Given the description of an element on the screen output the (x, y) to click on. 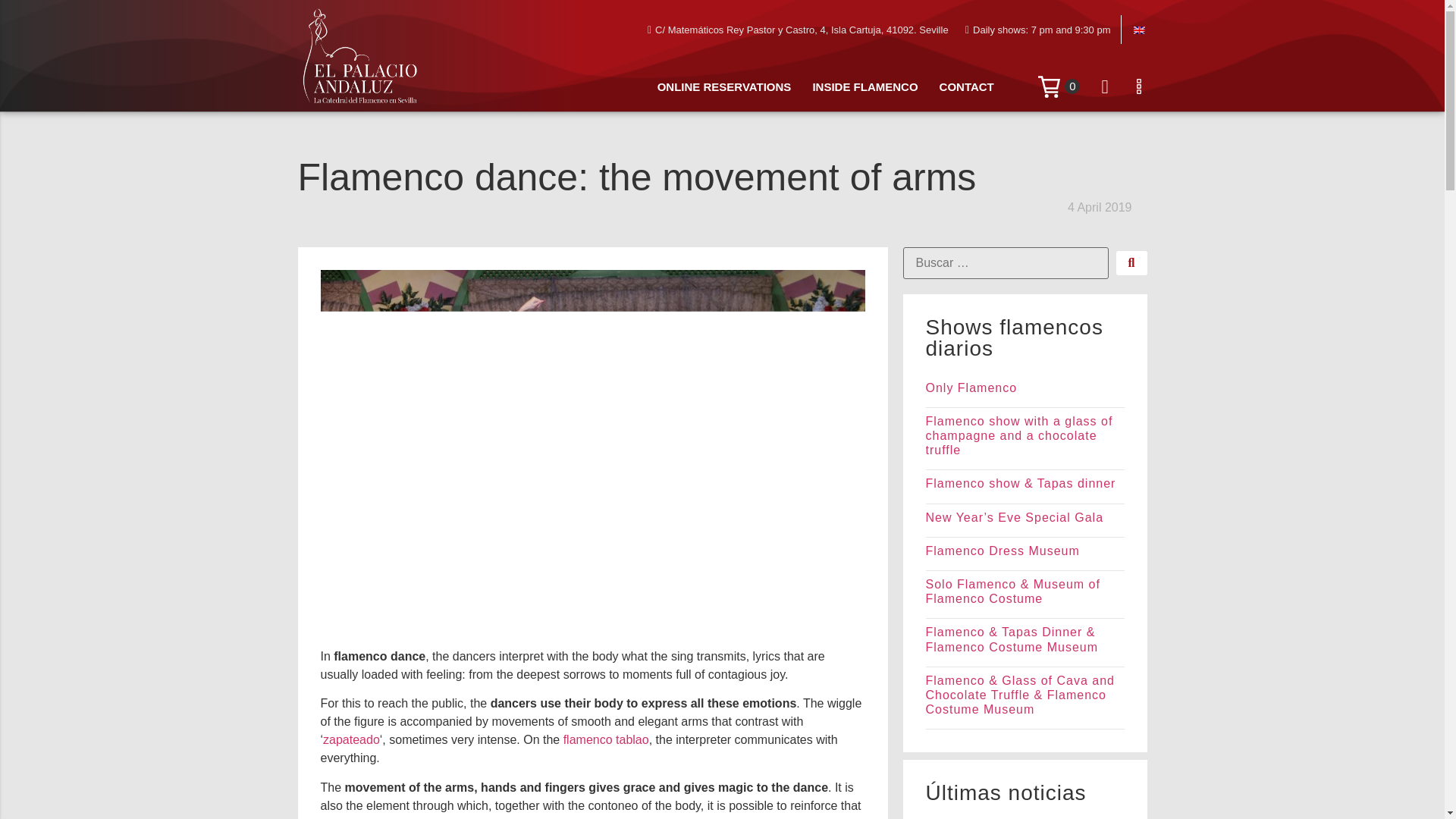
zapateado (351, 739)
INSIDE FLAMENCO (863, 87)
View your shopping cart (1059, 86)
0 (1059, 86)
Only Flamenco (970, 387)
flamenco style (560, 818)
flamenco tablao (606, 739)
CONTACT (966, 87)
ONLINE RESERVATIONS (724, 87)
